Given the description of an element on the screen output the (x, y) to click on. 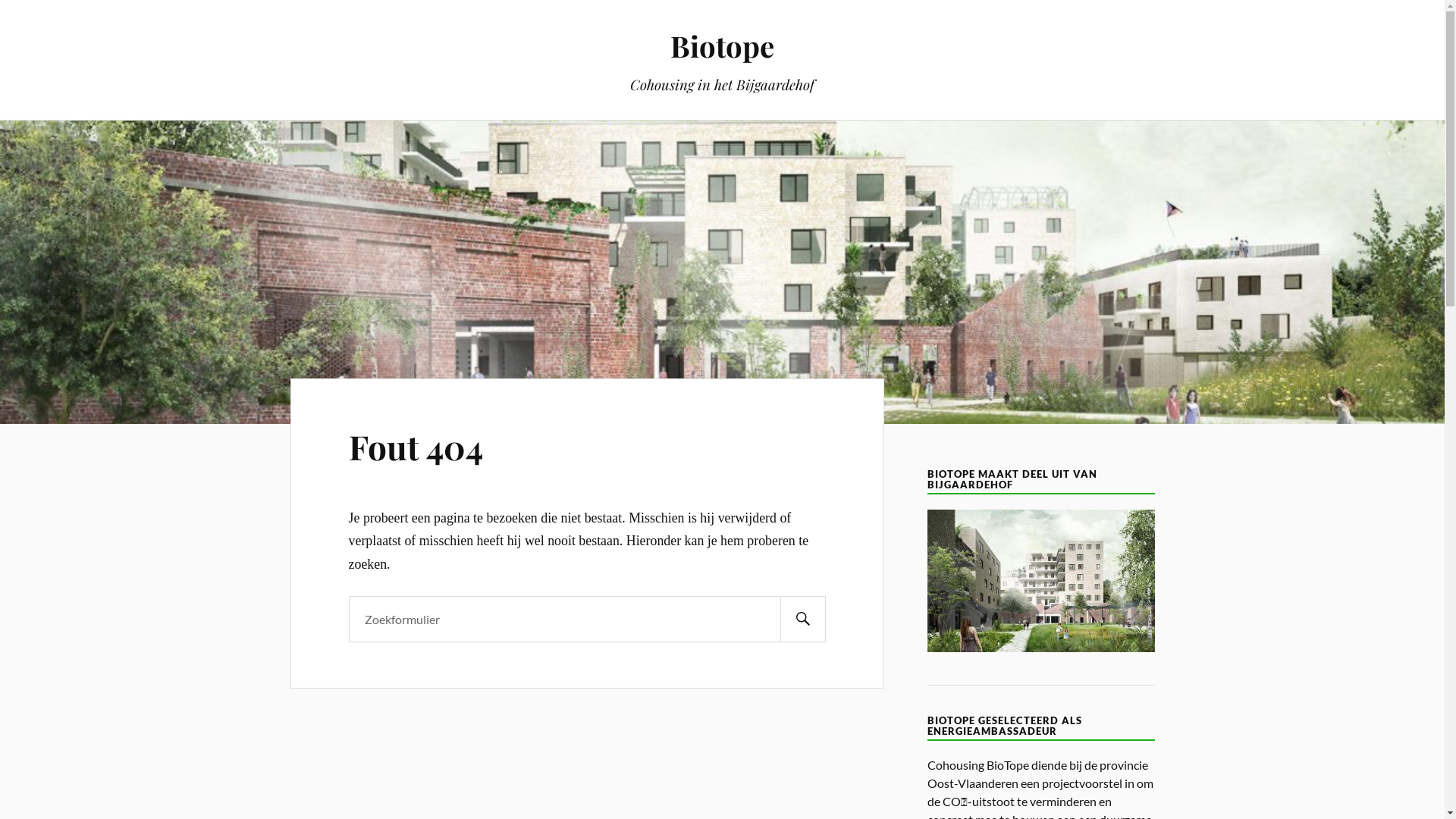
Biotope Element type: text (722, 45)
